Given the description of an element on the screen output the (x, y) to click on. 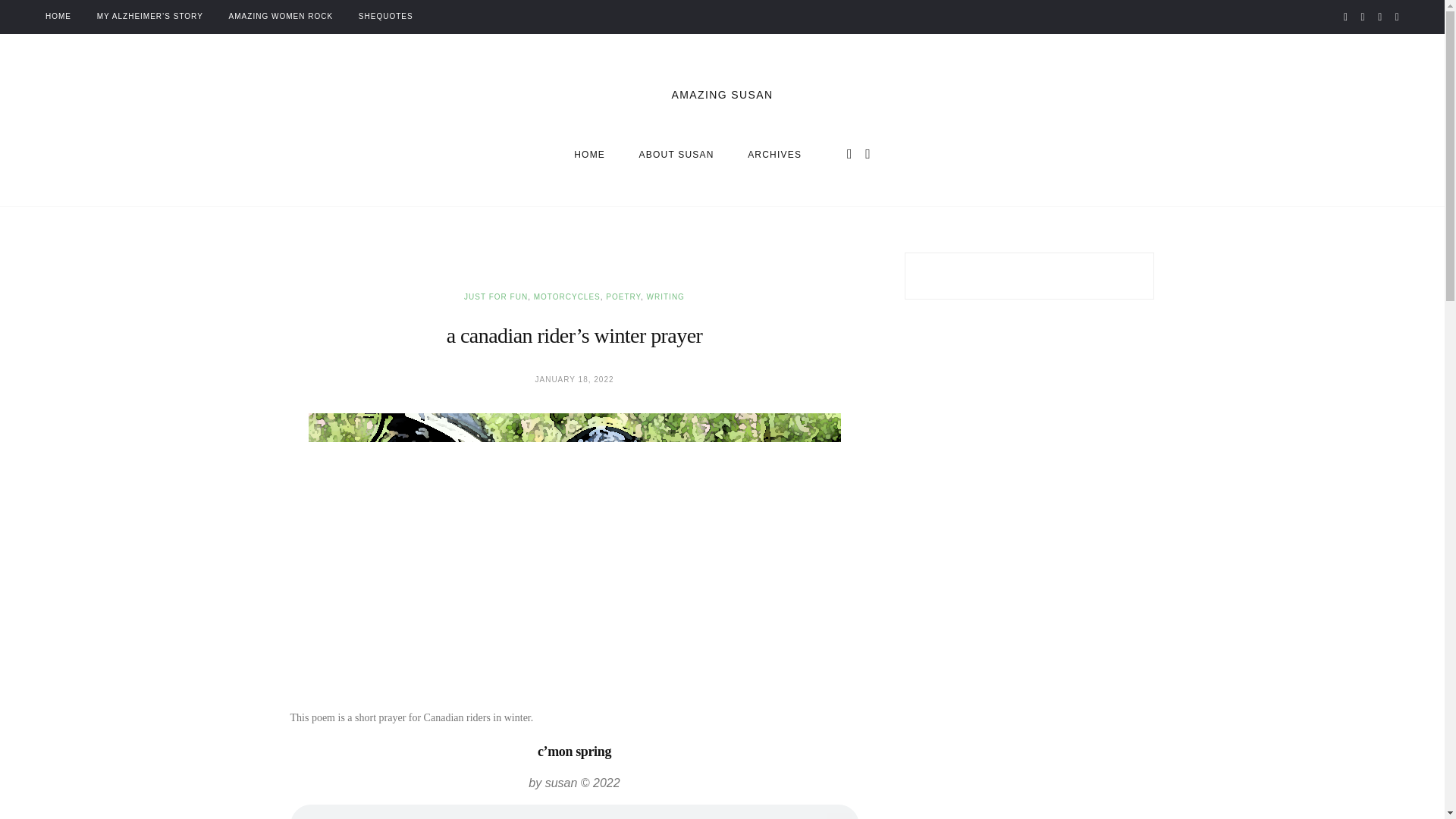
ARCHIVES (687, 154)
MOTORCYCLES (775, 154)
HOME (566, 296)
WRITING (58, 16)
ABOUT SUSAN (665, 296)
JUST FOR FUN (676, 154)
AMAZING WOMEN ROCK (495, 296)
HOME (280, 16)
AMAZING SUSAN (589, 154)
